Given the description of an element on the screen output the (x, y) to click on. 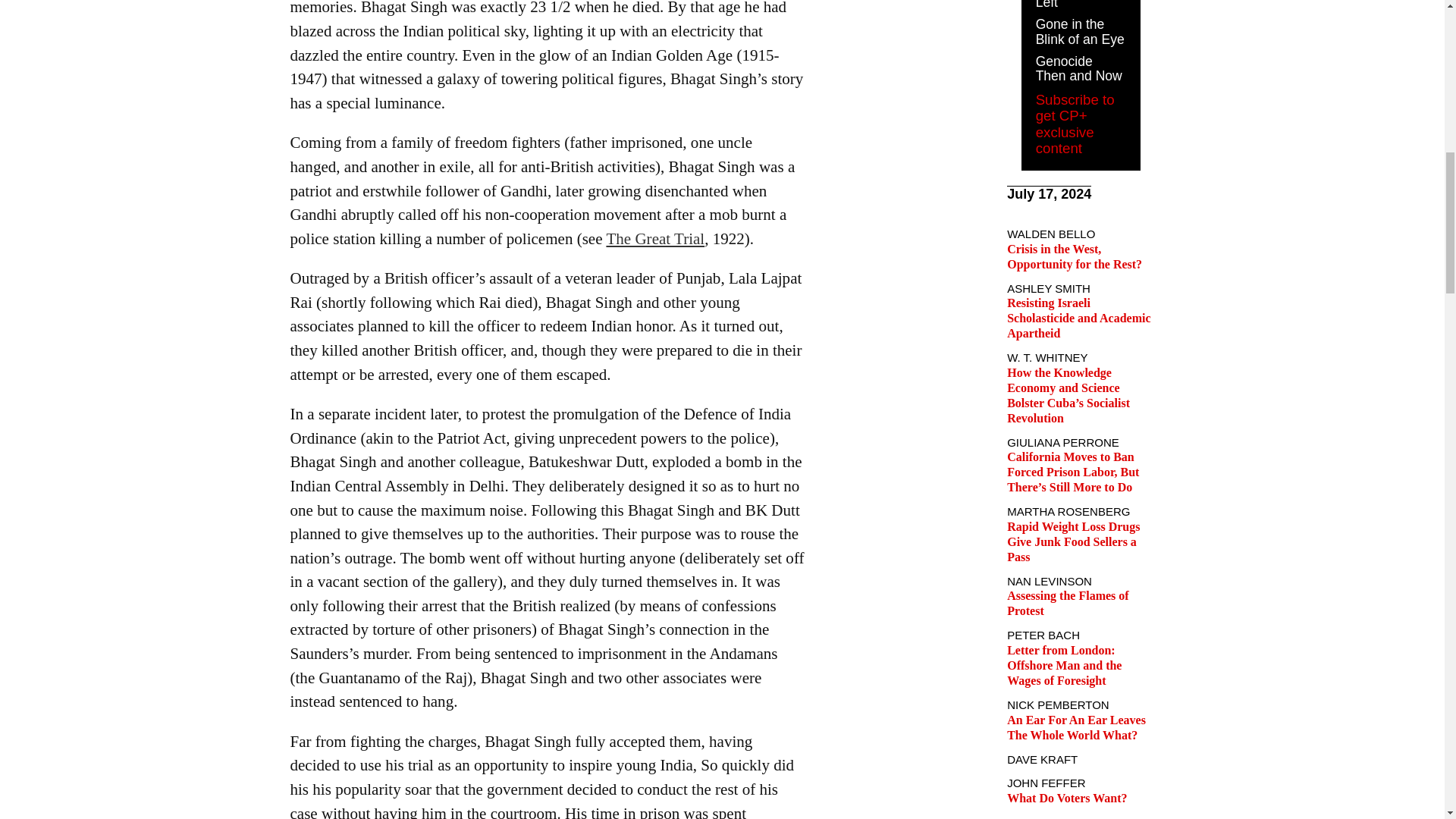
The Great Trial (654, 239)
